Given the description of an element on the screen output the (x, y) to click on. 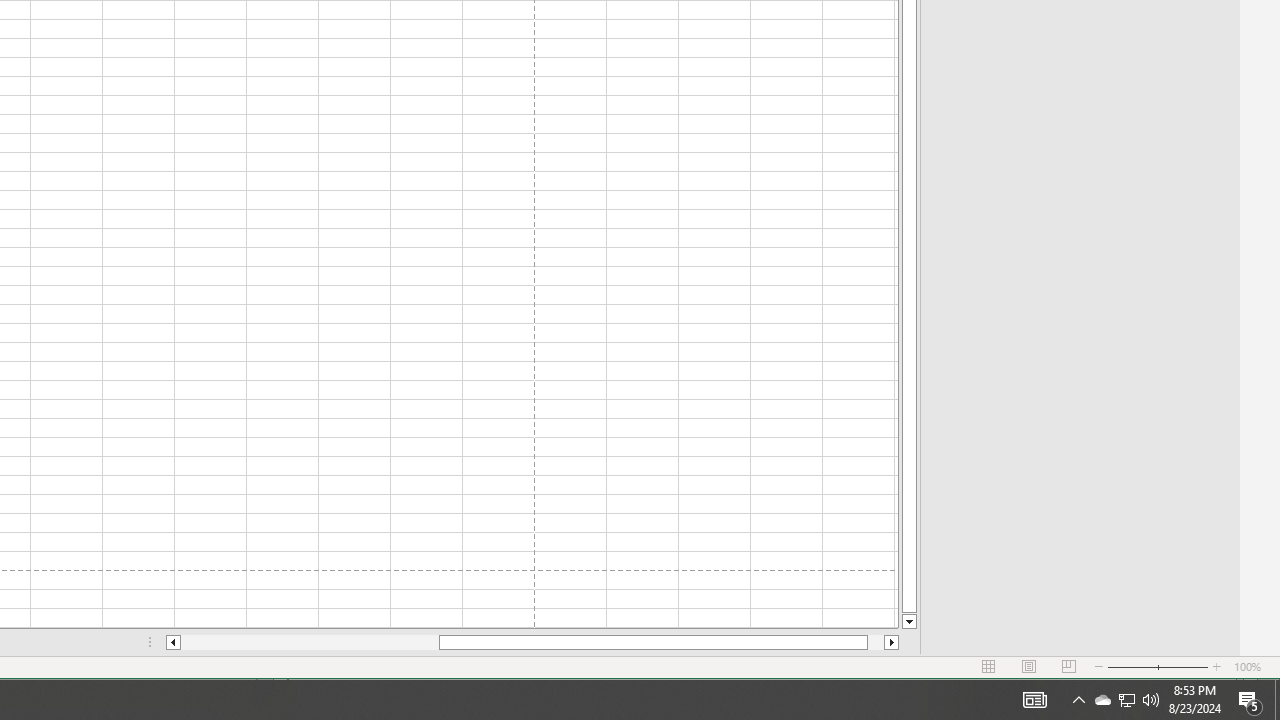
User Promoted Notification Area (1126, 699)
AutomationID: 4105 (1034, 699)
Column left (171, 642)
Page left (309, 642)
Column right (892, 642)
Zoom Out (1131, 667)
Action Center, 5 new notifications (1126, 699)
Zoom In (1250, 699)
Show desktop (1217, 667)
Page Break Preview (1277, 699)
